Given the description of an element on the screen output the (x, y) to click on. 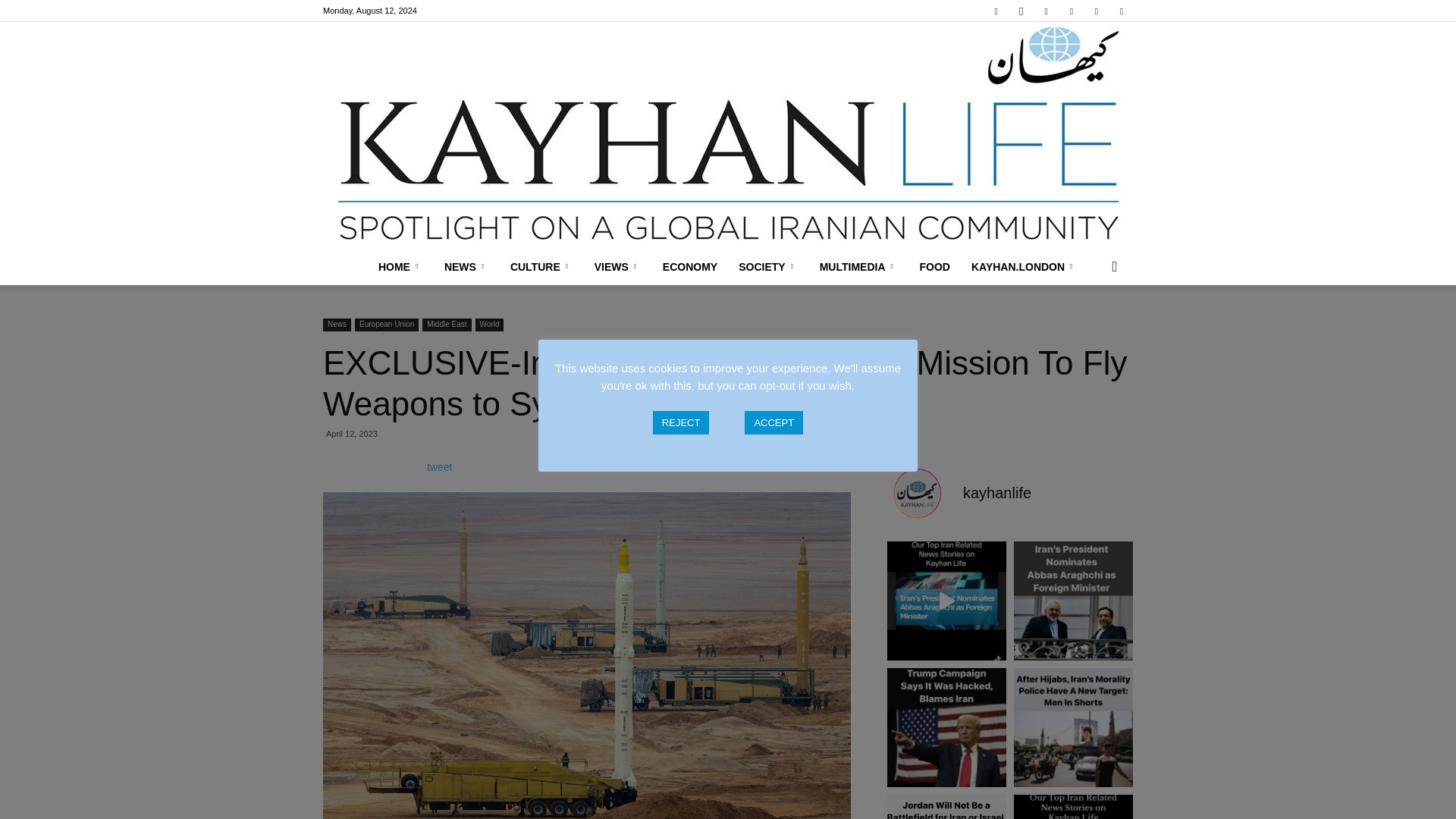
Facebook (996, 10)
Linkedin (1046, 10)
Twitter (1096, 10)
Youtube (1120, 10)
Pinterest (1071, 10)
Instagram (1021, 10)
